Given the description of an element on the screen output the (x, y) to click on. 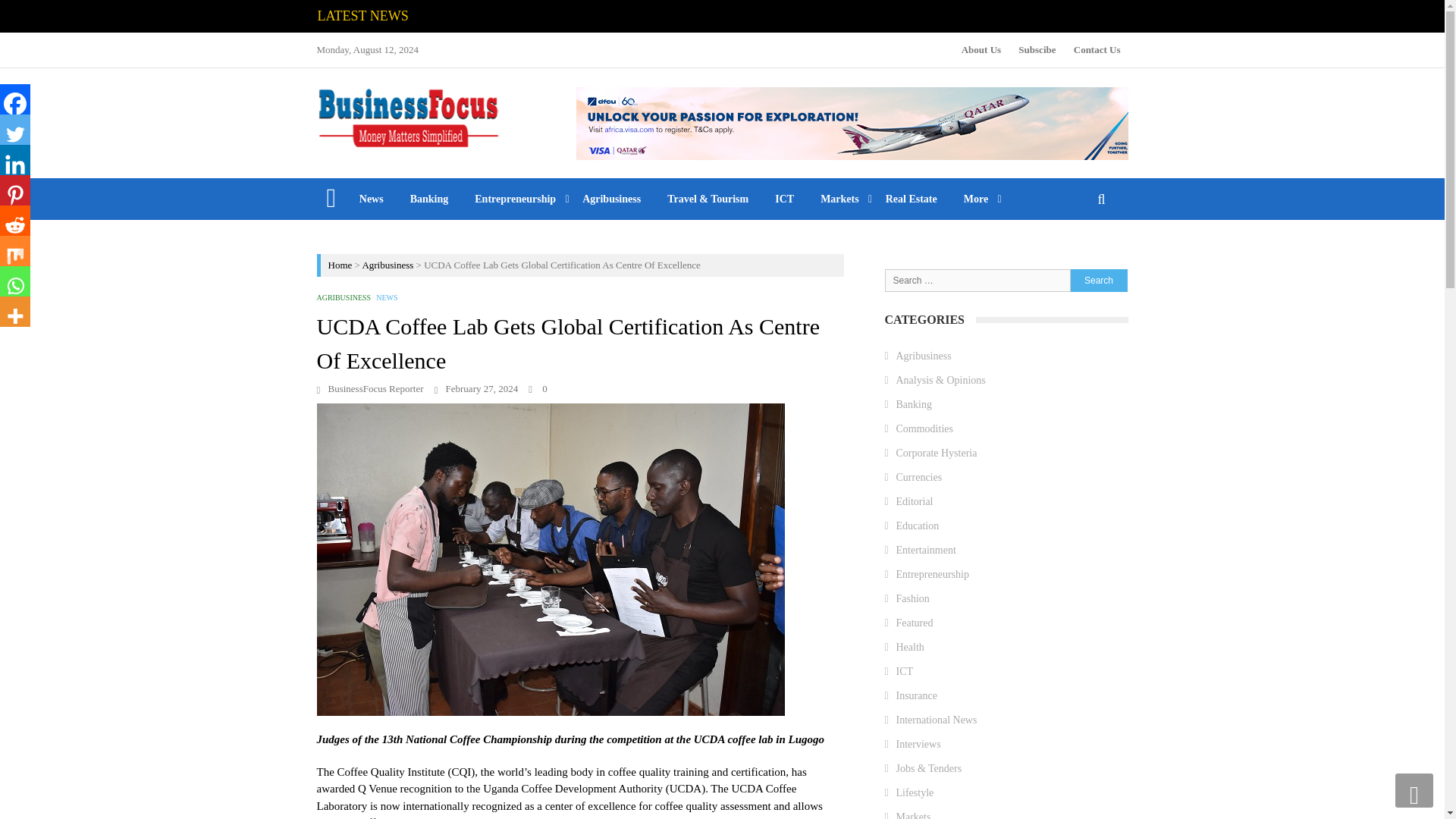
Home (339, 265)
Whatsapp (15, 281)
Agribusiness (611, 199)
Pinterest (15, 190)
Mix (15, 250)
Facebook (15, 99)
Search (1098, 279)
Linkedin (15, 159)
Markets (840, 199)
Banking (428, 199)
